Given the description of an element on the screen output the (x, y) to click on. 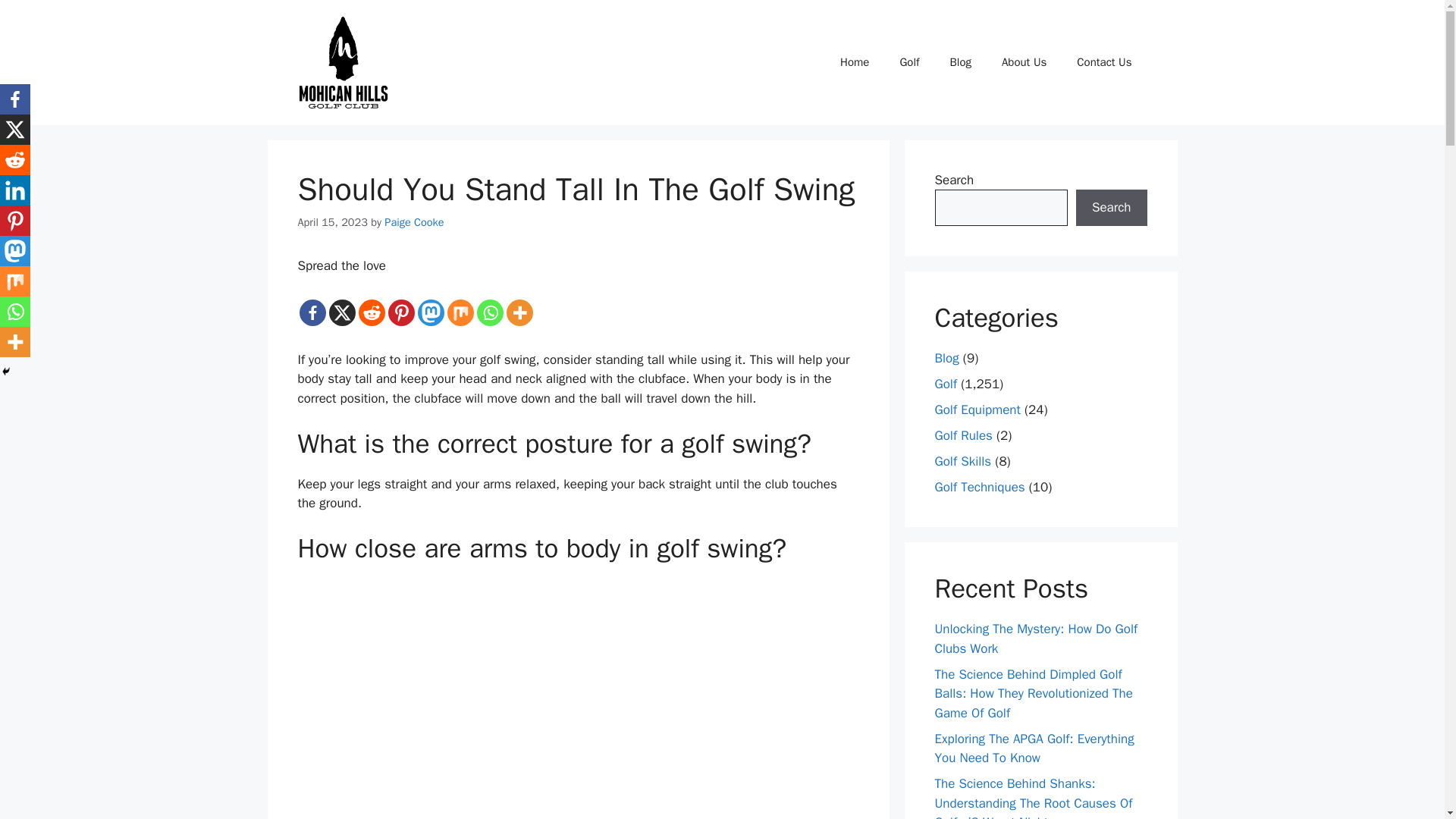
Blog (959, 62)
View all posts by Paige Cooke (414, 222)
Paige Cooke (414, 222)
Contact Us (1104, 62)
About Us (1024, 62)
Home (854, 62)
Golf (908, 62)
